Given the description of an element on the screen output the (x, y) to click on. 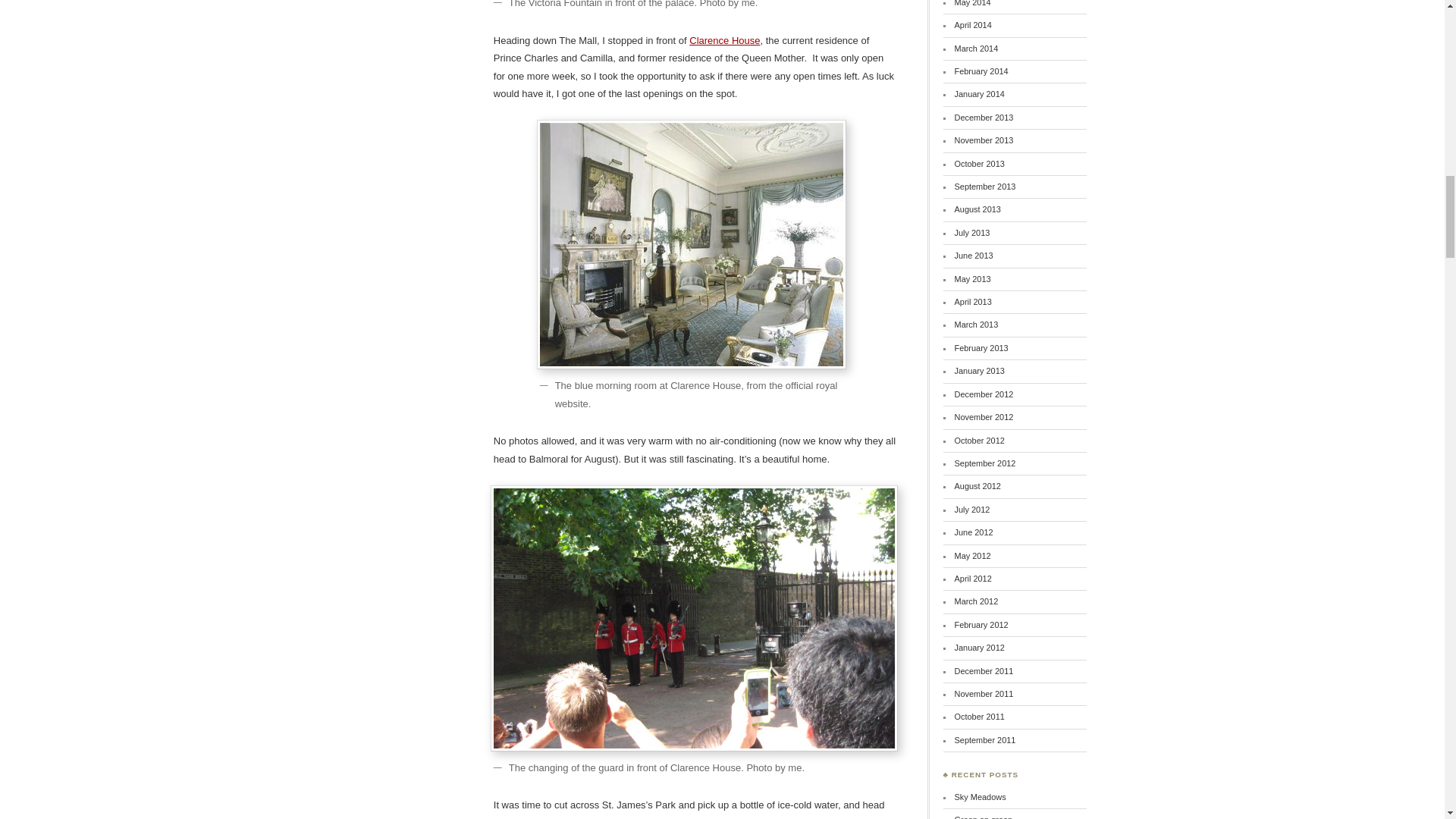
Clarence House (724, 40)
